Given the description of an element on the screen output the (x, y) to click on. 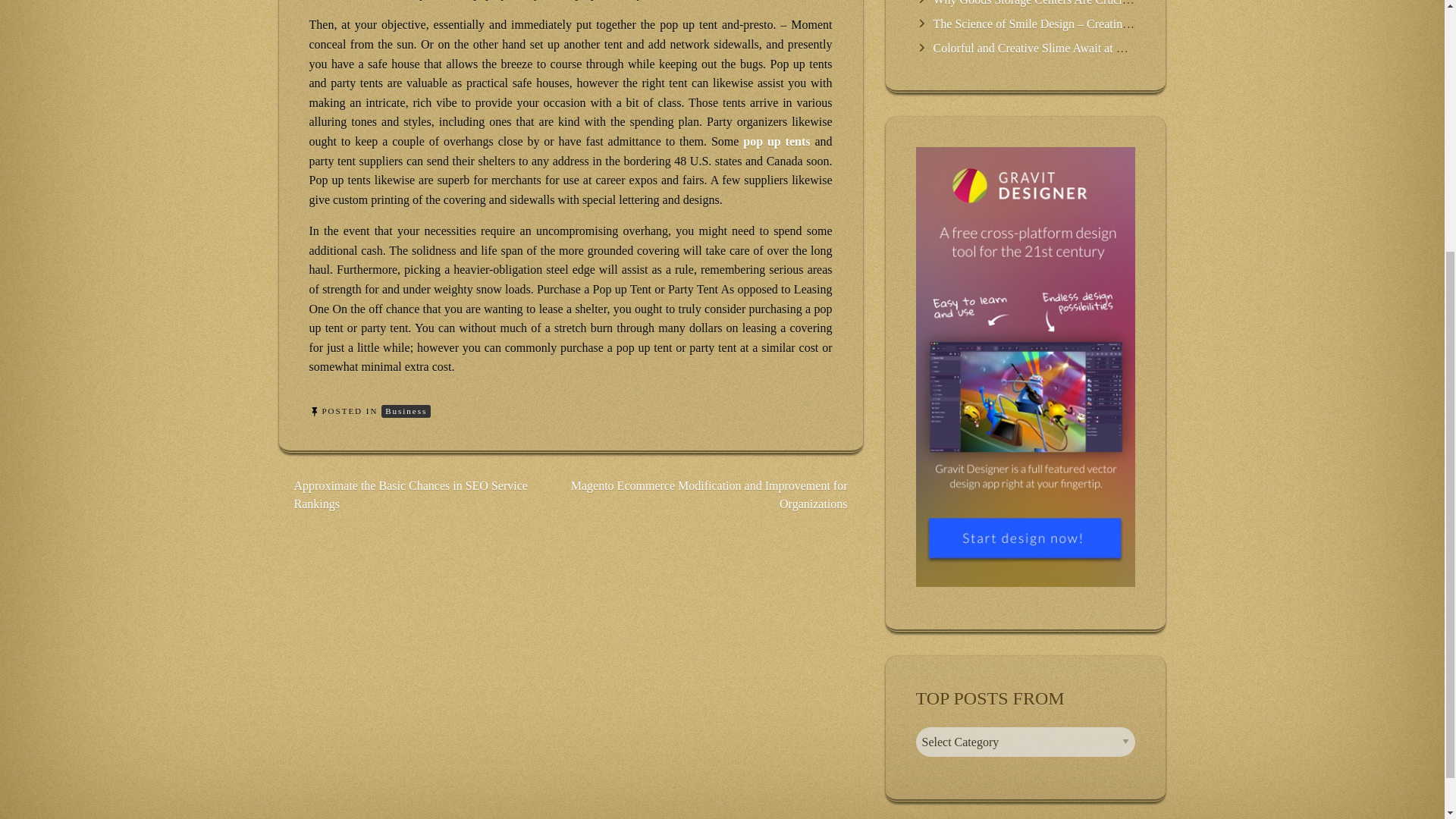
Approximate the Basic Chances in SEO Service Rankings (410, 494)
pop up tents (775, 141)
Colorful and Creative Slime Await at Our Variety Shop (1066, 47)
Business (405, 410)
